Given the description of an element on the screen output the (x, y) to click on. 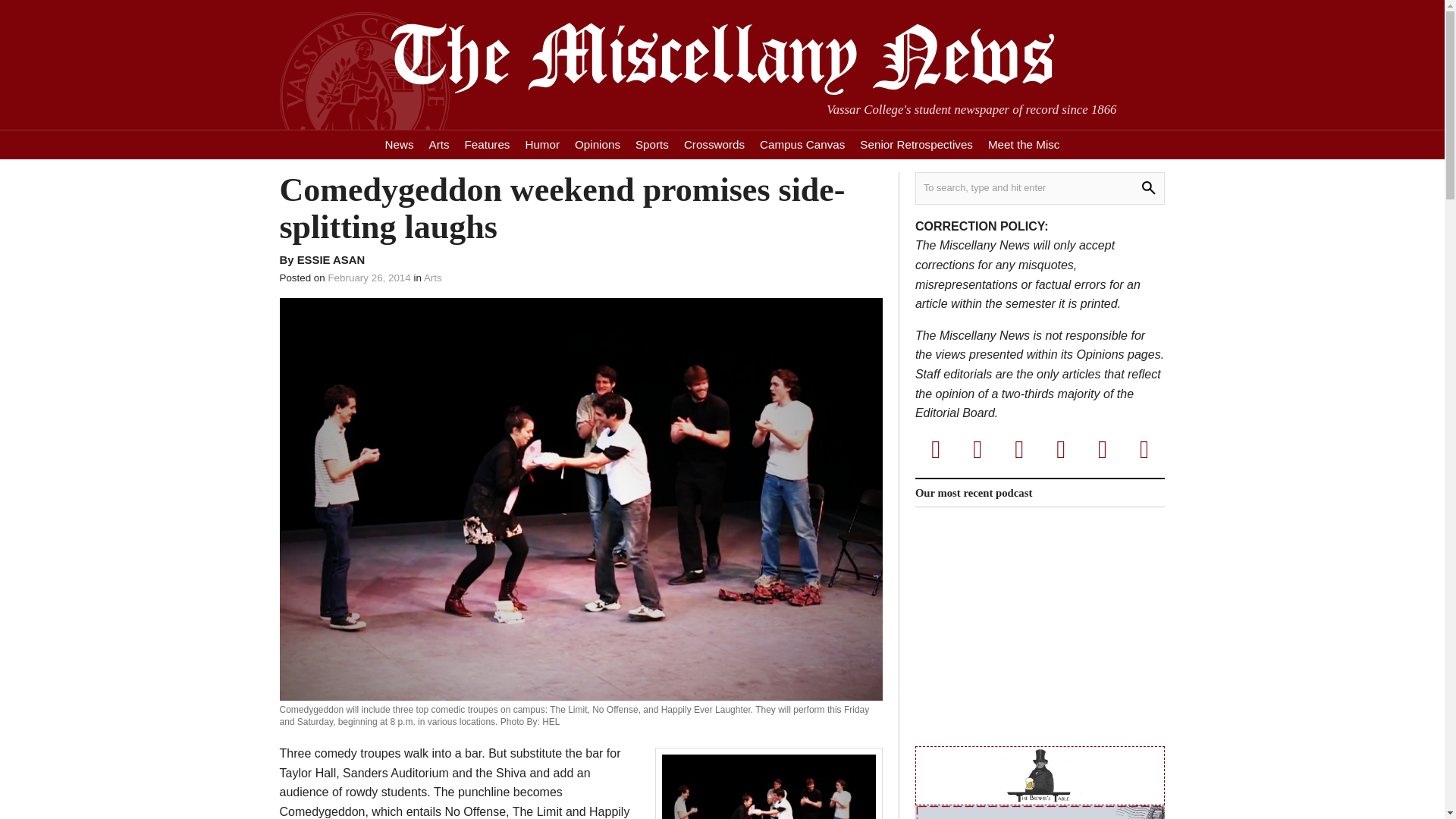
Opinions (597, 144)
Arts (432, 277)
News (399, 144)
Meet the Misc (1023, 144)
Comedygeddon weekend promises side-splitting laughs (580, 208)
Humor (541, 144)
Campus Canvas (801, 144)
Features (487, 144)
The Miscellany News (721, 58)
Sports (652, 144)
February 26, 2014 (368, 277)
Crosswords (714, 144)
Senior Retrospectives (915, 144)
Arts (439, 144)
